Given the description of an element on the screen output the (x, y) to click on. 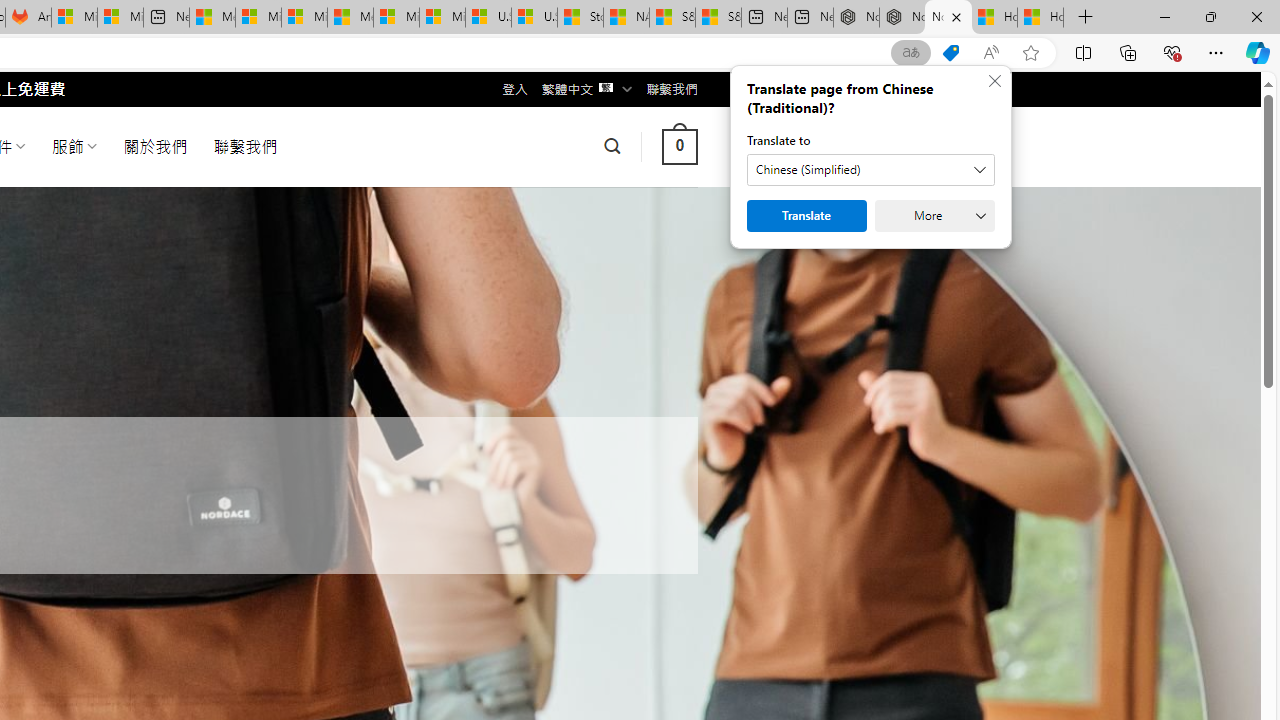
Translate to (870, 169)
How to Use a Monitor With Your Closed Laptop (1040, 17)
